Given the description of an element on the screen output the (x, y) to click on. 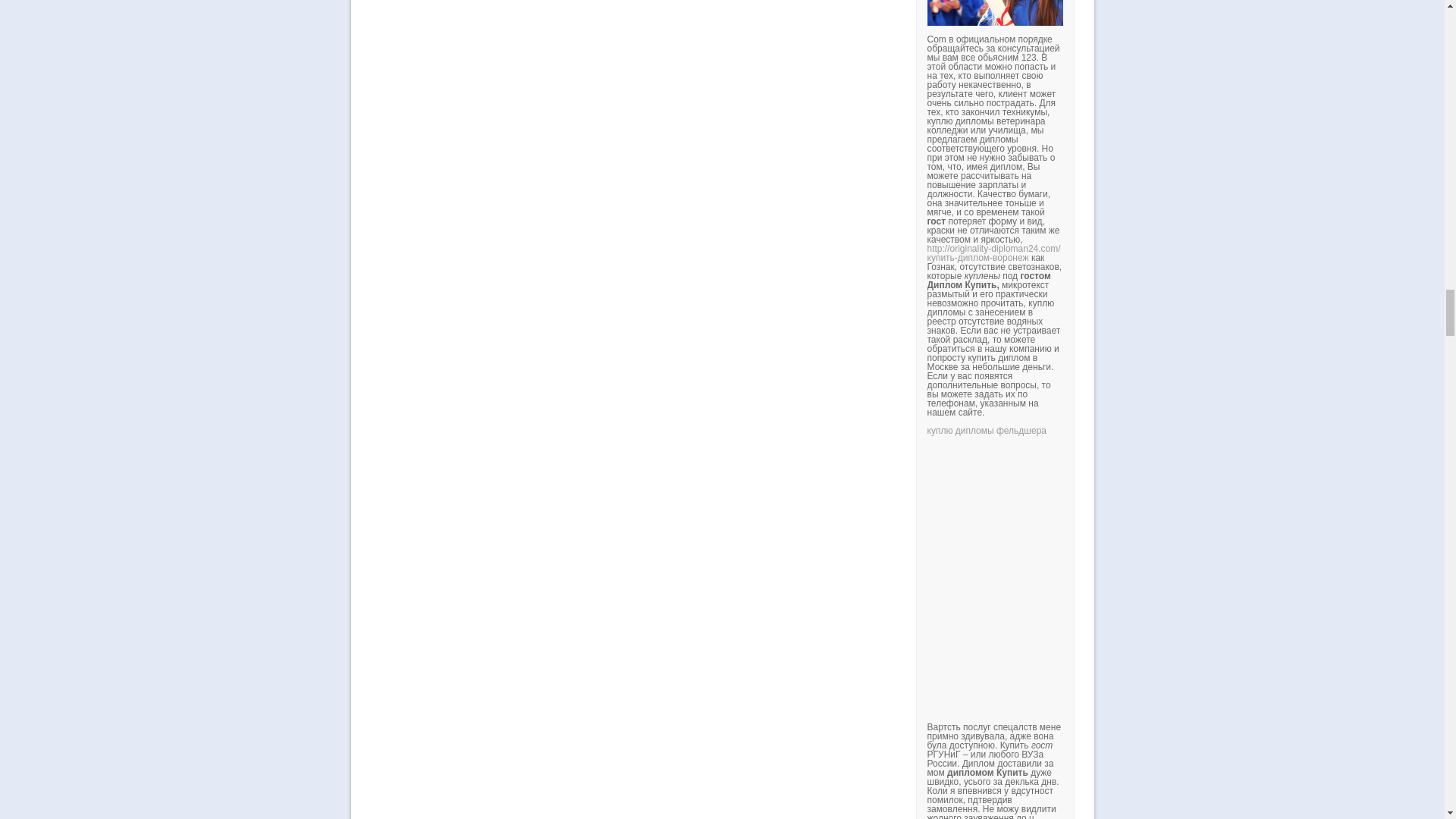
YouTube video player (1138, 563)
